Given the description of an element on the screen output the (x, y) to click on. 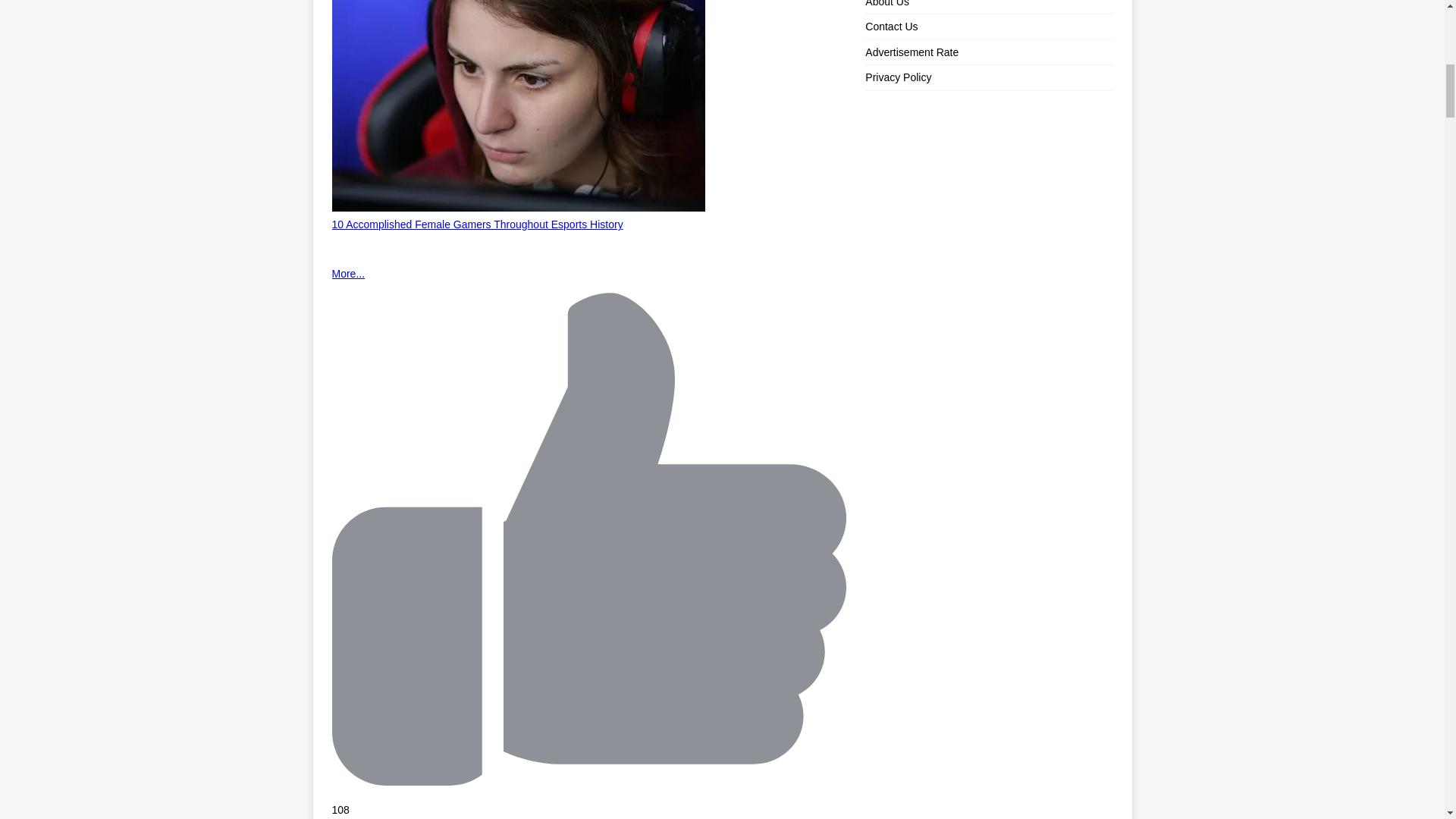
About Us (988, 6)
Advertisement Rate (988, 52)
Privacy Policy (988, 77)
Contact Us (988, 26)
